Given the description of an element on the screen output the (x, y) to click on. 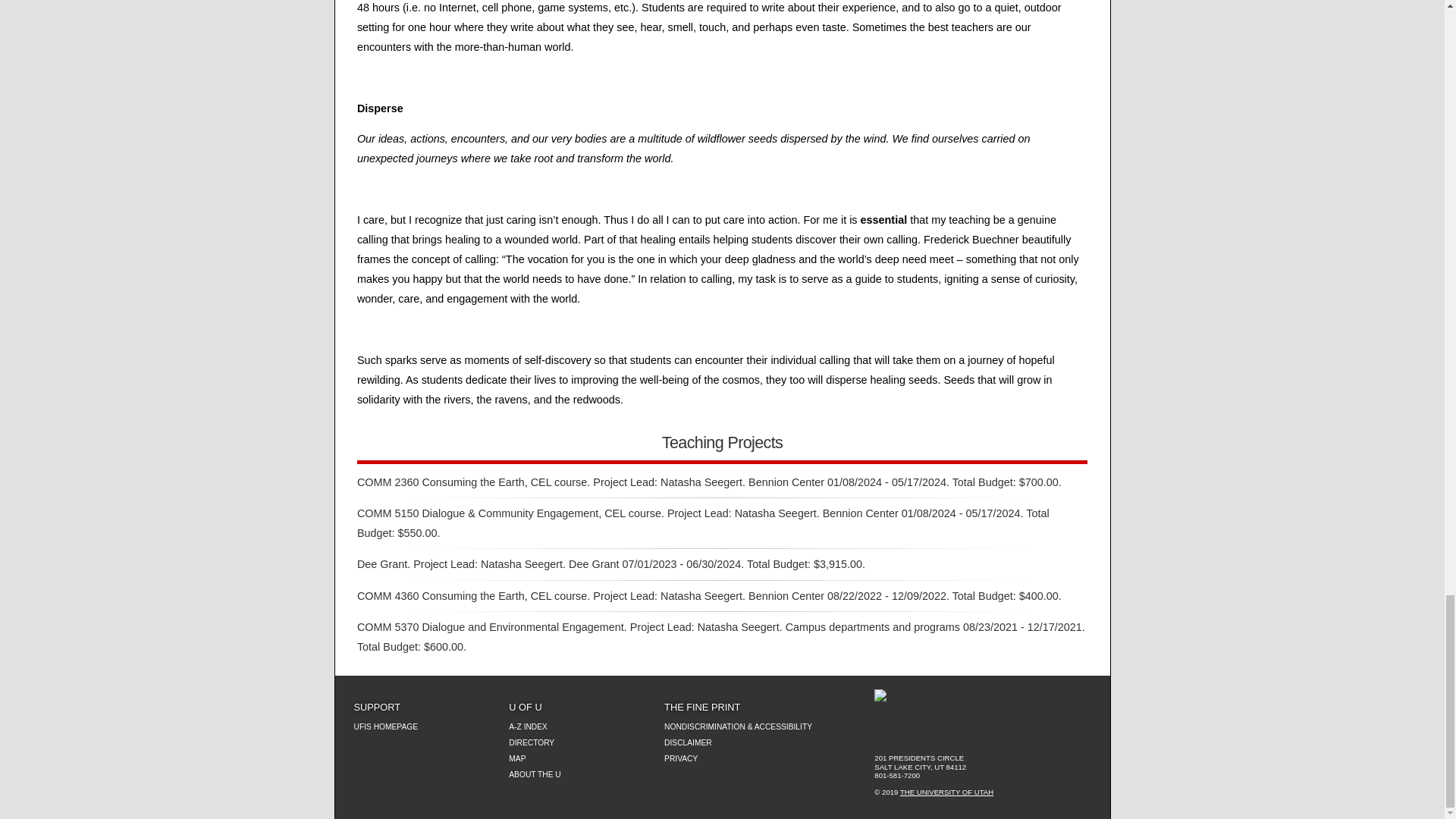
facebook (934, 732)
instagram (1012, 732)
U-Mail (908, 732)
youtube (985, 732)
CIS login (883, 732)
twitter (960, 732)
